Given the description of an element on the screen output the (x, y) to click on. 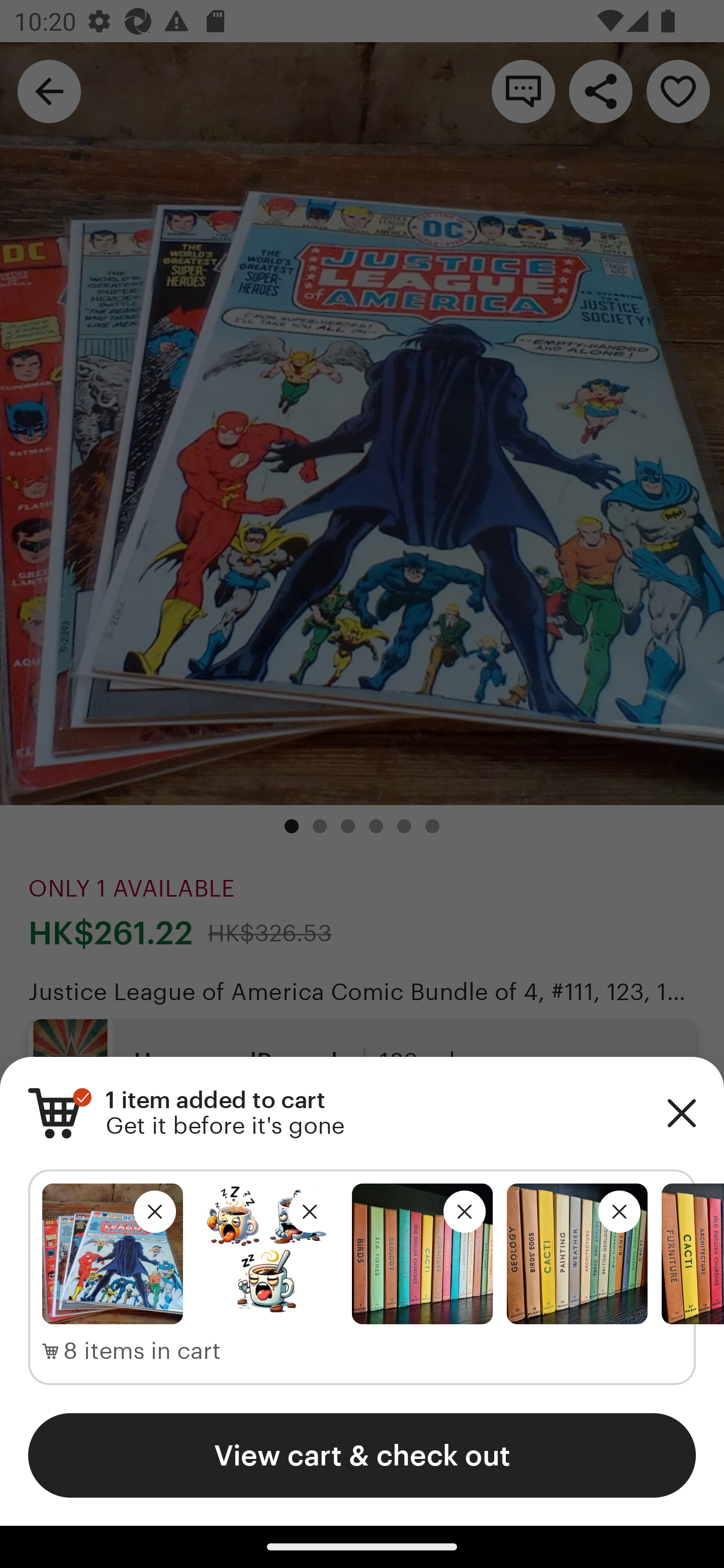
8 items in cart (131, 1351)
View cart & check out (361, 1454)
